Given the description of an element on the screen output the (x, y) to click on. 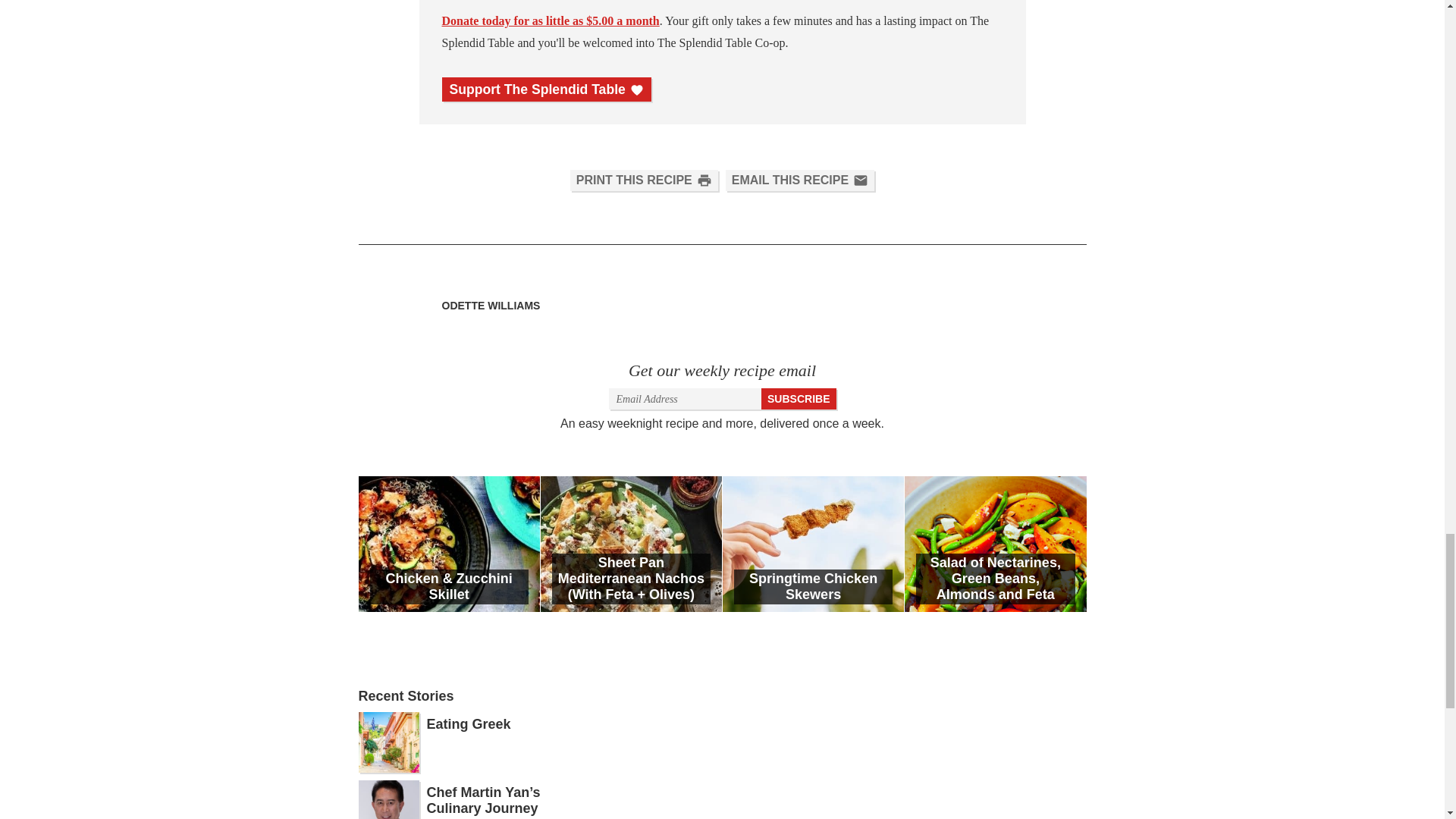
Springtime Chicken Skewers (813, 543)
Support The Splendid Table (545, 88)
SUBSCRIBE (798, 398)
EMAIL THIS RECIPE (800, 179)
PRINT THIS RECIPE (643, 179)
ODETTE WILLIAMS (490, 305)
Salad of Nectarines, Green Beans, Almonds and Feta (995, 543)
